Given the description of an element on the screen output the (x, y) to click on. 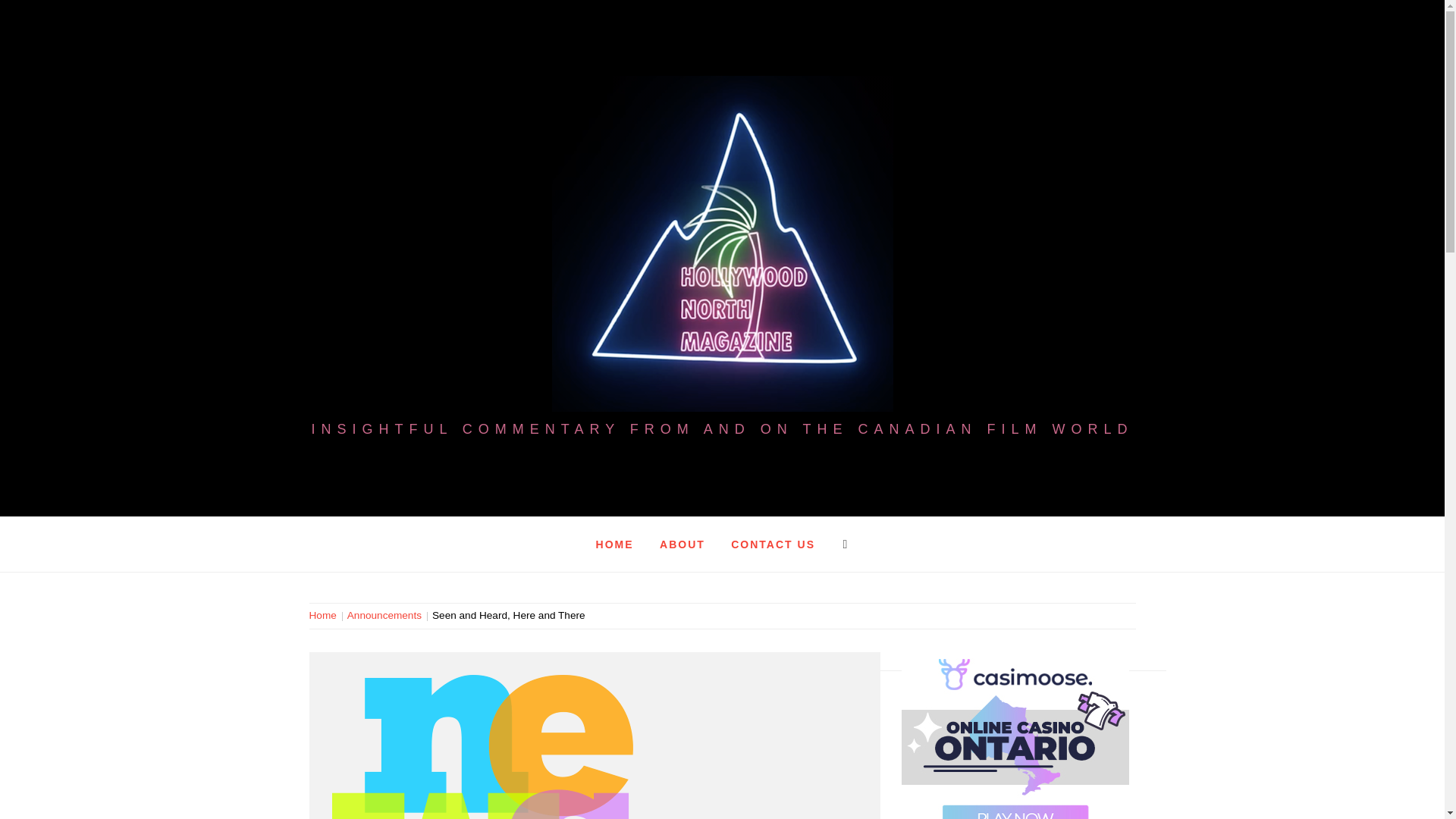
CONTACT US (773, 543)
HOME (615, 543)
Search (646, 37)
Announcements (384, 614)
ABOUT (681, 543)
Home (325, 614)
Seen and Heard, Here and There (508, 614)
